Given the description of an element on the screen output the (x, y) to click on. 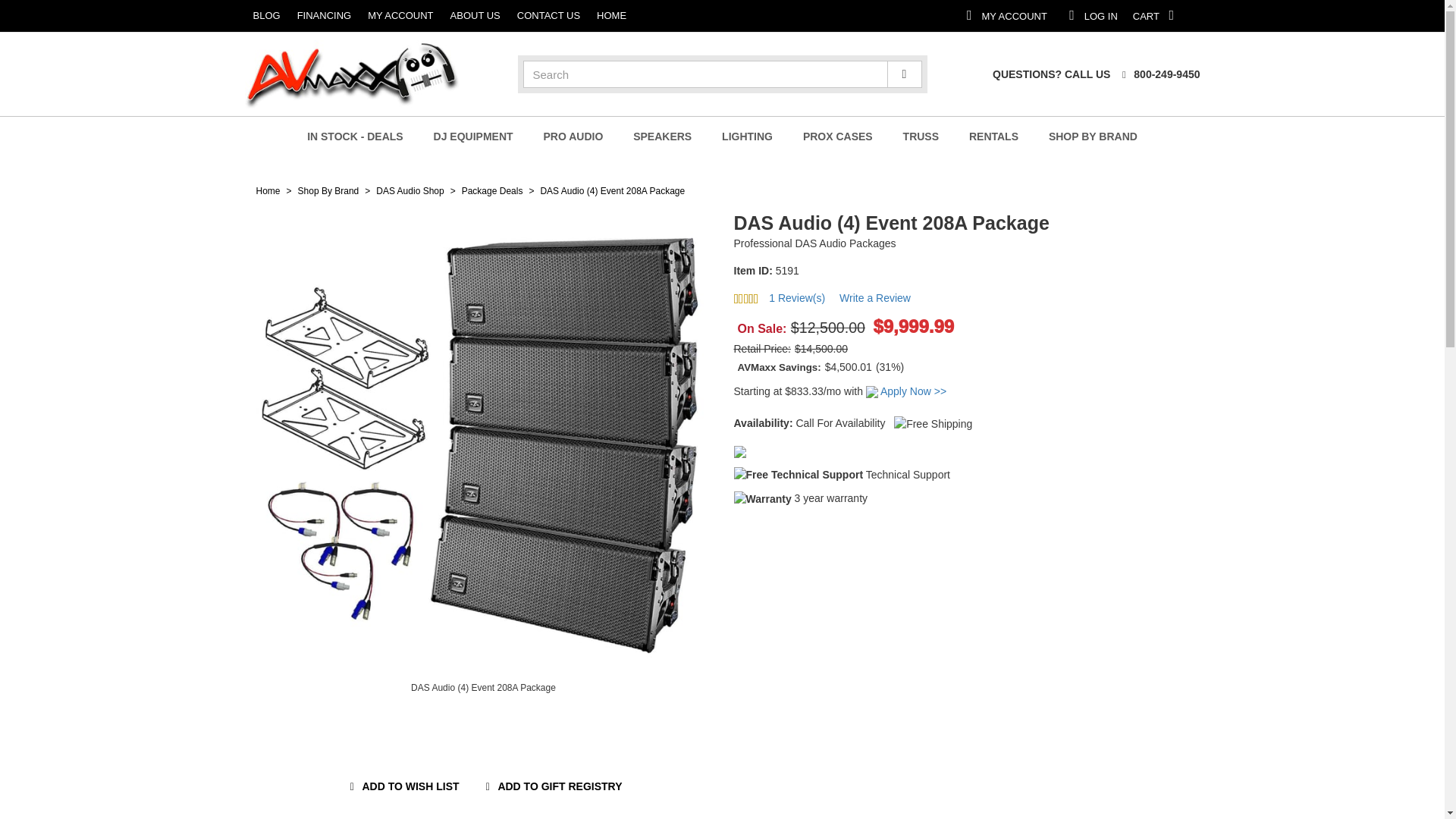
DJ EQUIPMENT (473, 136)
MY ACCOUNT (1076, 15)
CONTACT US (100, 15)
800-249-9450 (331, 15)
HOME (1157, 74)
ABOUT US (1296, 15)
IN STOCK - DEALS (435, 15)
